Given the description of an element on the screen output the (x, y) to click on. 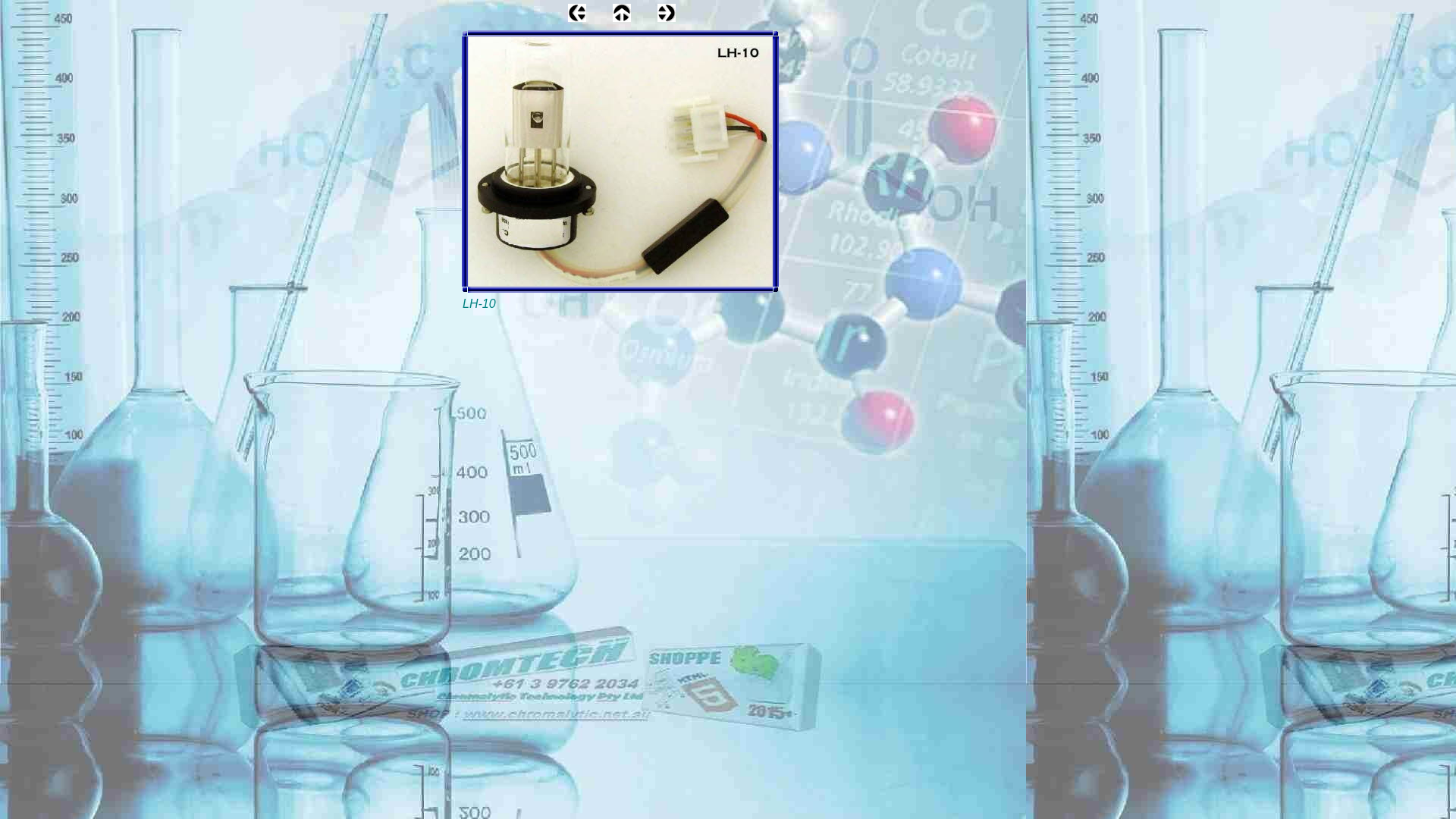
LH-10 Element type: hover (619, 161)
